Given the description of an element on the screen output the (x, y) to click on. 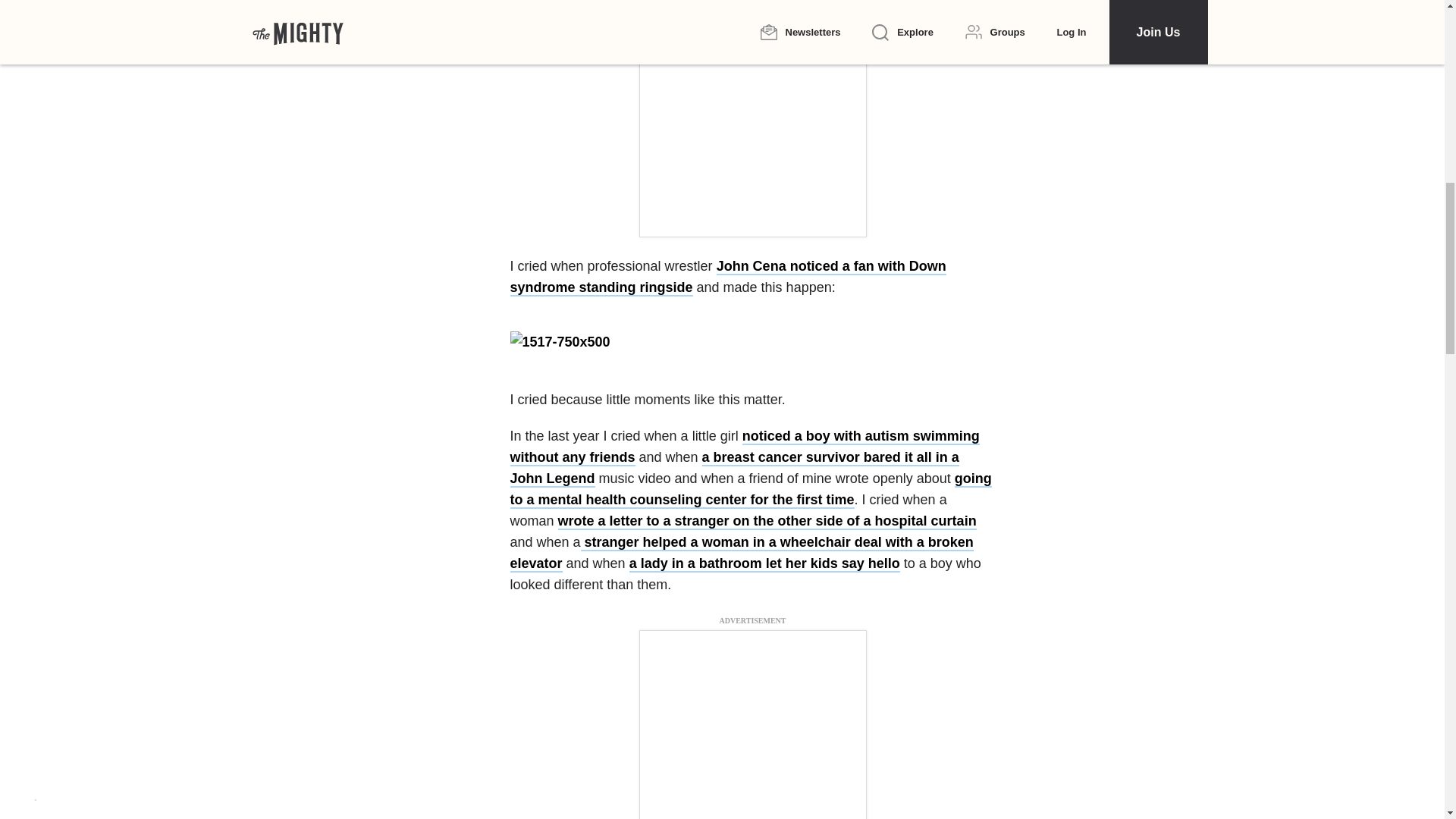
John Cena noticed a fan with Down syndrome standing ringside (726, 277)
a breast cancer survivor bared it all in a John Legend (733, 468)
noticed a boy with autism swimming without any friends (743, 447)
a lady in a bathroom let her kids say hello (763, 564)
